Given the description of an element on the screen output the (x, y) to click on. 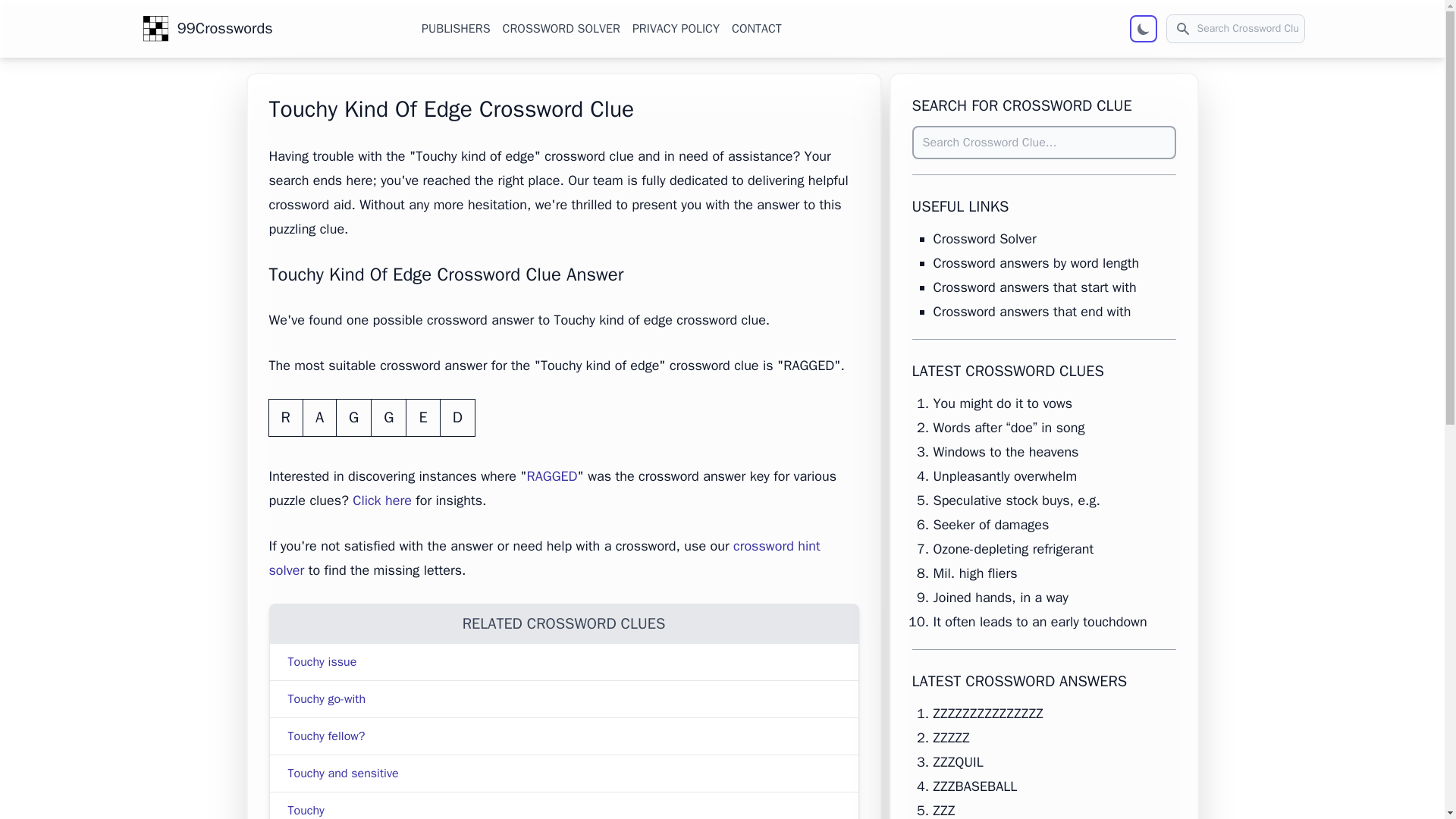
CONTACT (756, 28)
PRIVACY POLICY (675, 28)
Crossword answers by word length (1035, 262)
Crossword Solver (984, 238)
Touchy issue (322, 661)
PUBLISHERS (455, 28)
Touchy and sensitive (343, 773)
Click here (382, 500)
CROSSWORD SOLVER (561, 28)
Crossword answers that end with (1032, 311)
